Given the description of an element on the screen output the (x, y) to click on. 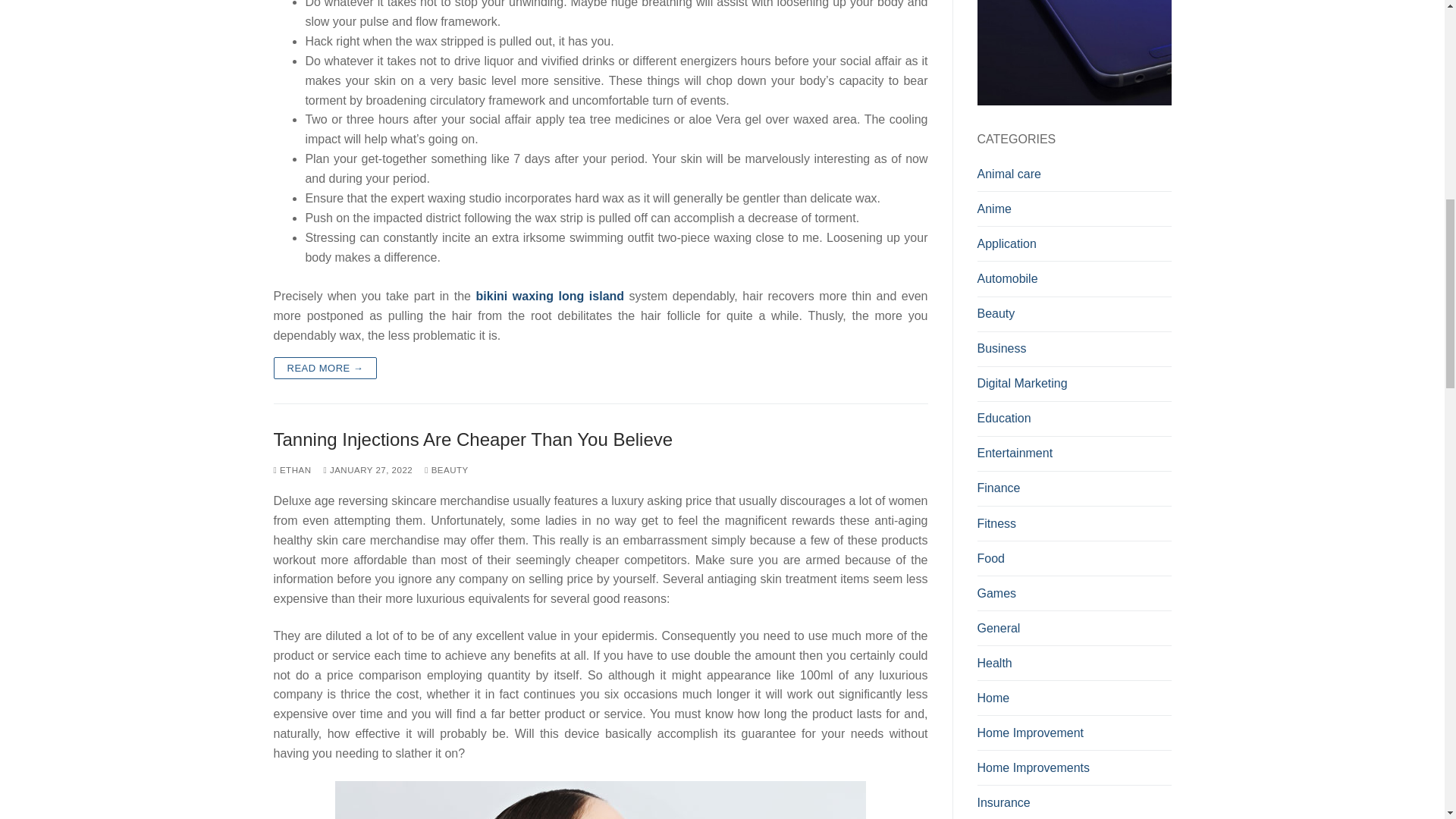
Tanning Injections Are Cheaper Than You Believe (600, 439)
ETHAN (292, 470)
BEAUTY (446, 470)
bikini waxing long island (550, 295)
JANUARY 27, 2022 (367, 470)
Tanning Injections Are Cheaper Than You Believe (600, 439)
